Given the description of an element on the screen output the (x, y) to click on. 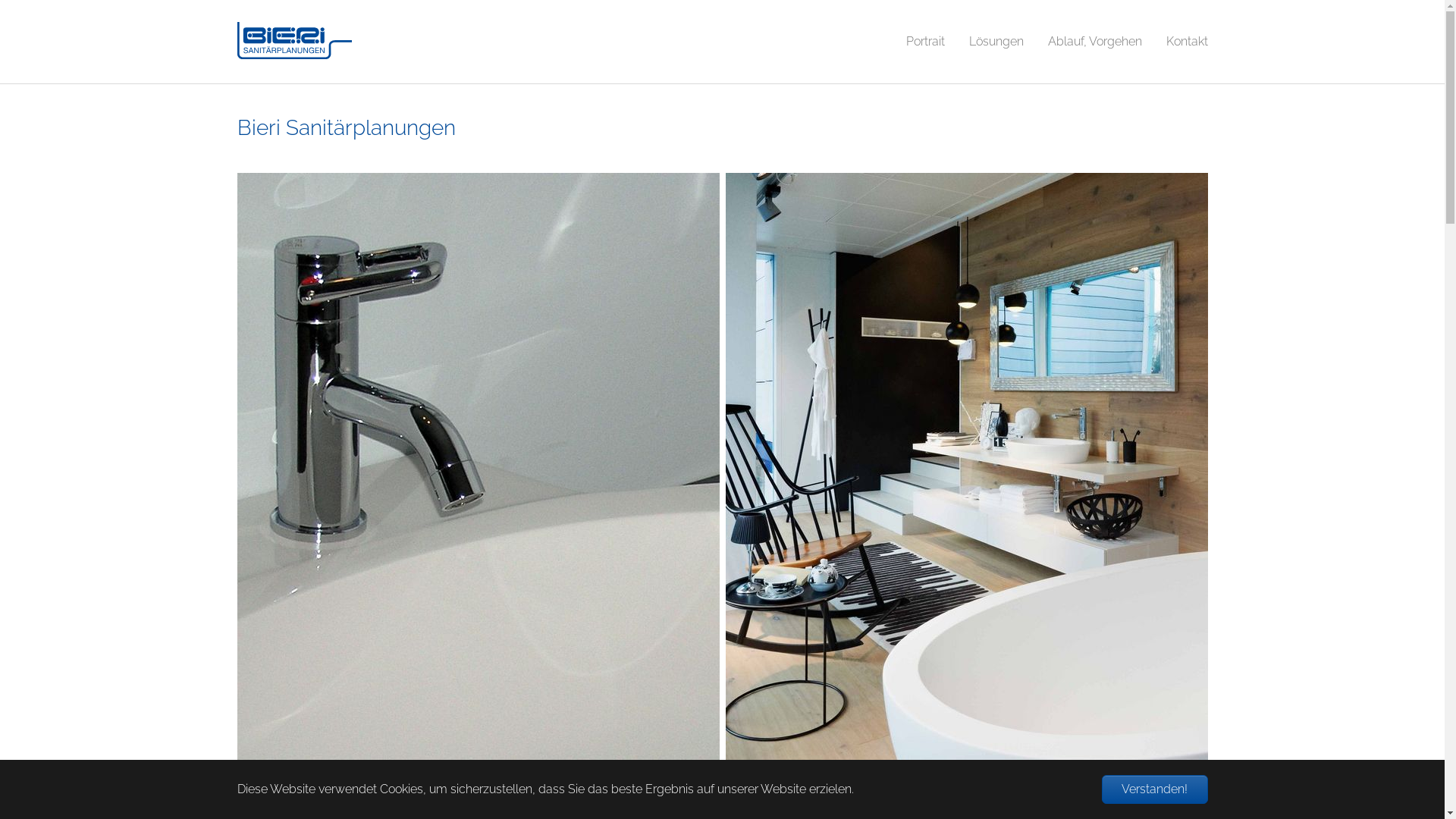
Kontakt Element type: text (1187, 41)
Verstanden! Element type: text (1154, 789)
Portrait Element type: text (924, 41)
Ablauf, Vorgehen Element type: text (1094, 41)
